Given the description of an element on the screen output the (x, y) to click on. 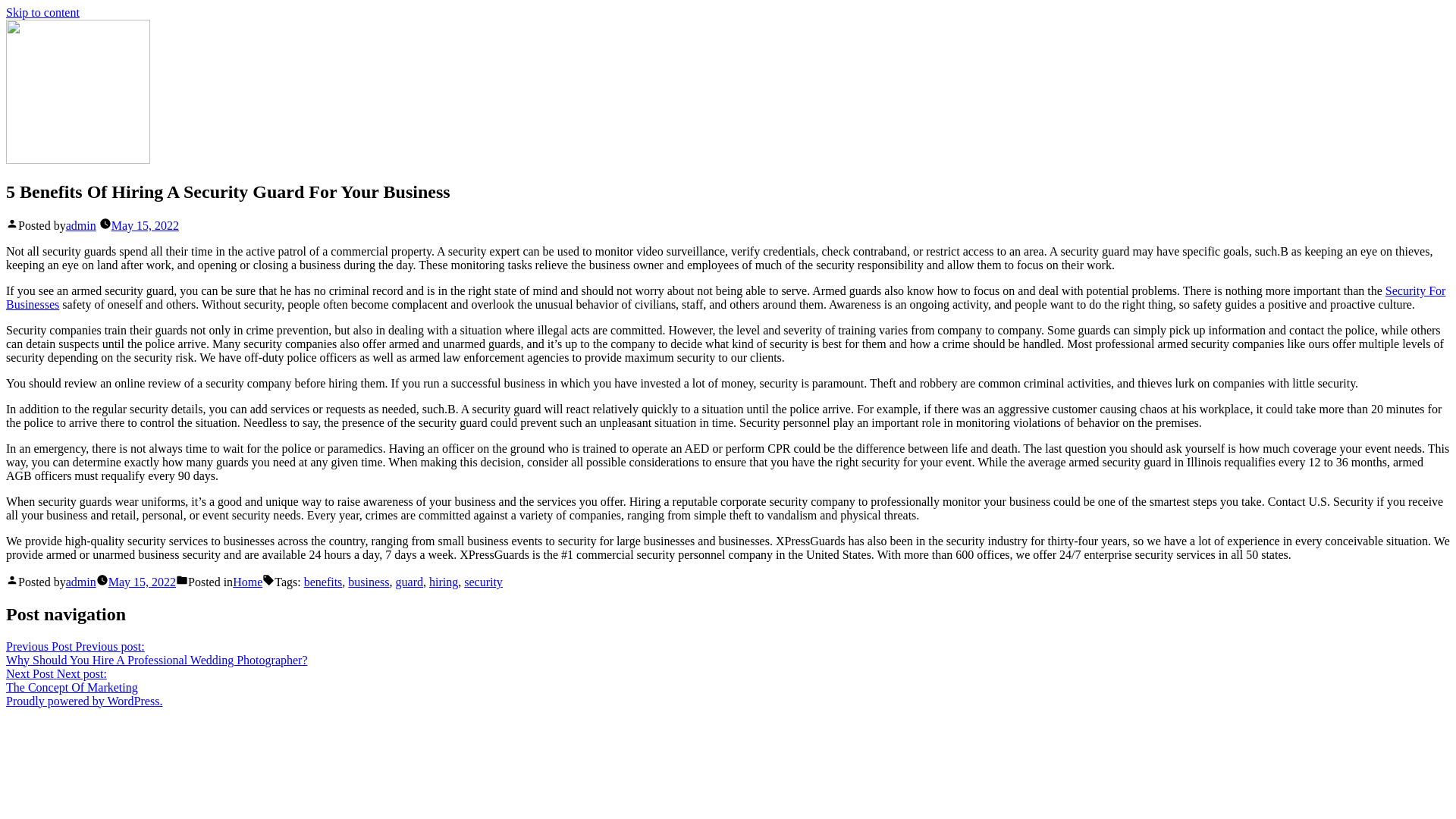
guard (409, 581)
benefits (323, 581)
admin (80, 581)
admin (80, 225)
Home (247, 581)
security (483, 581)
hiring (71, 680)
May 15, 2022 (443, 581)
May 15, 2022 (141, 581)
Skip to content (145, 225)
business (42, 11)
